Given the description of an element on the screen output the (x, y) to click on. 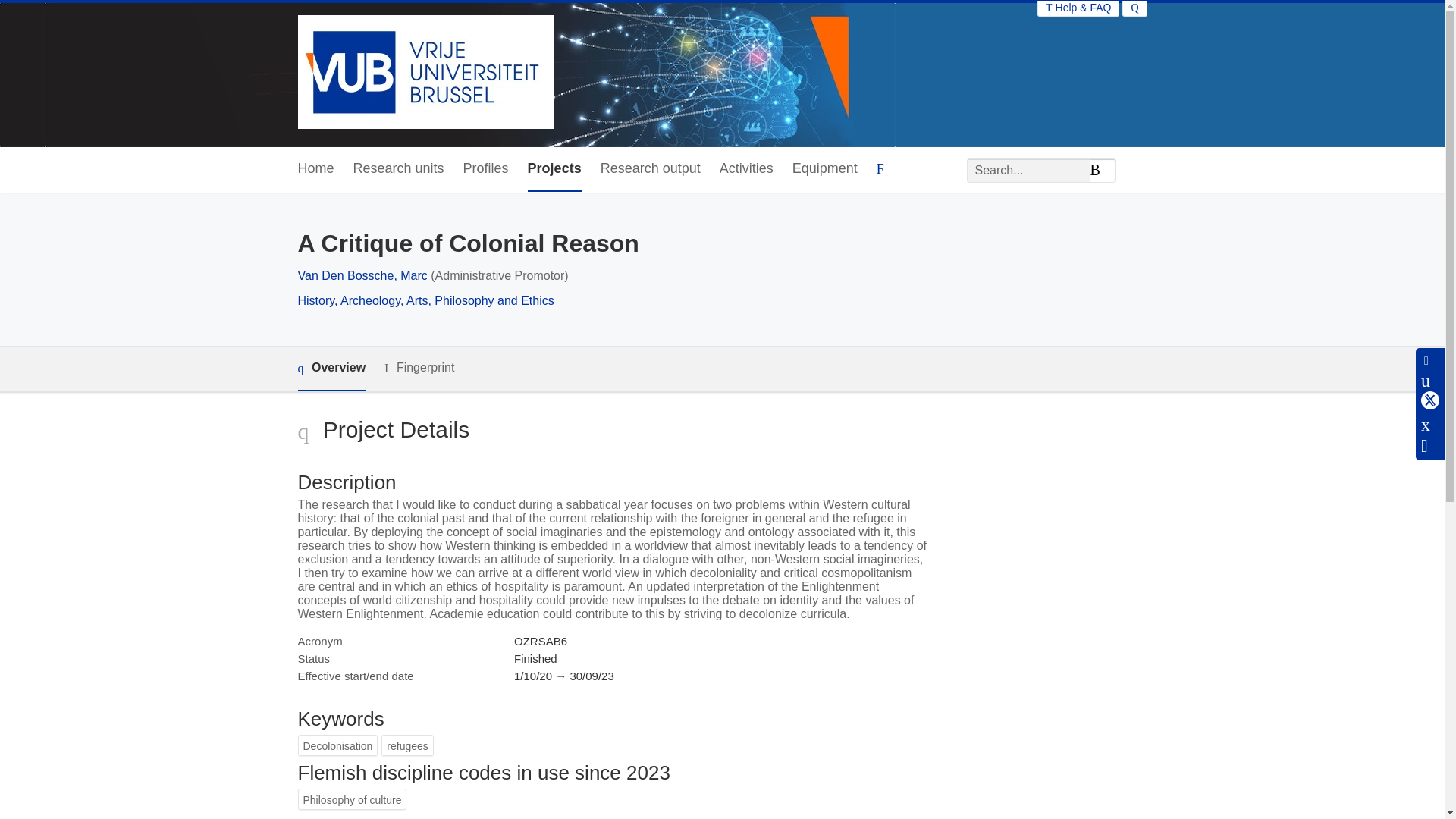
Van Den Bossche, Marc (361, 275)
Overview (331, 368)
Projects (553, 169)
Equipment (824, 169)
Research output (649, 169)
Fingerprint (419, 367)
Profiles (485, 169)
Research units (398, 169)
Vrije Universiteit Brussel Home (425, 73)
Activities (746, 169)
History, Archeology, Arts, Philosophy and Ethics (425, 300)
